Given the description of an element on the screen output the (x, y) to click on. 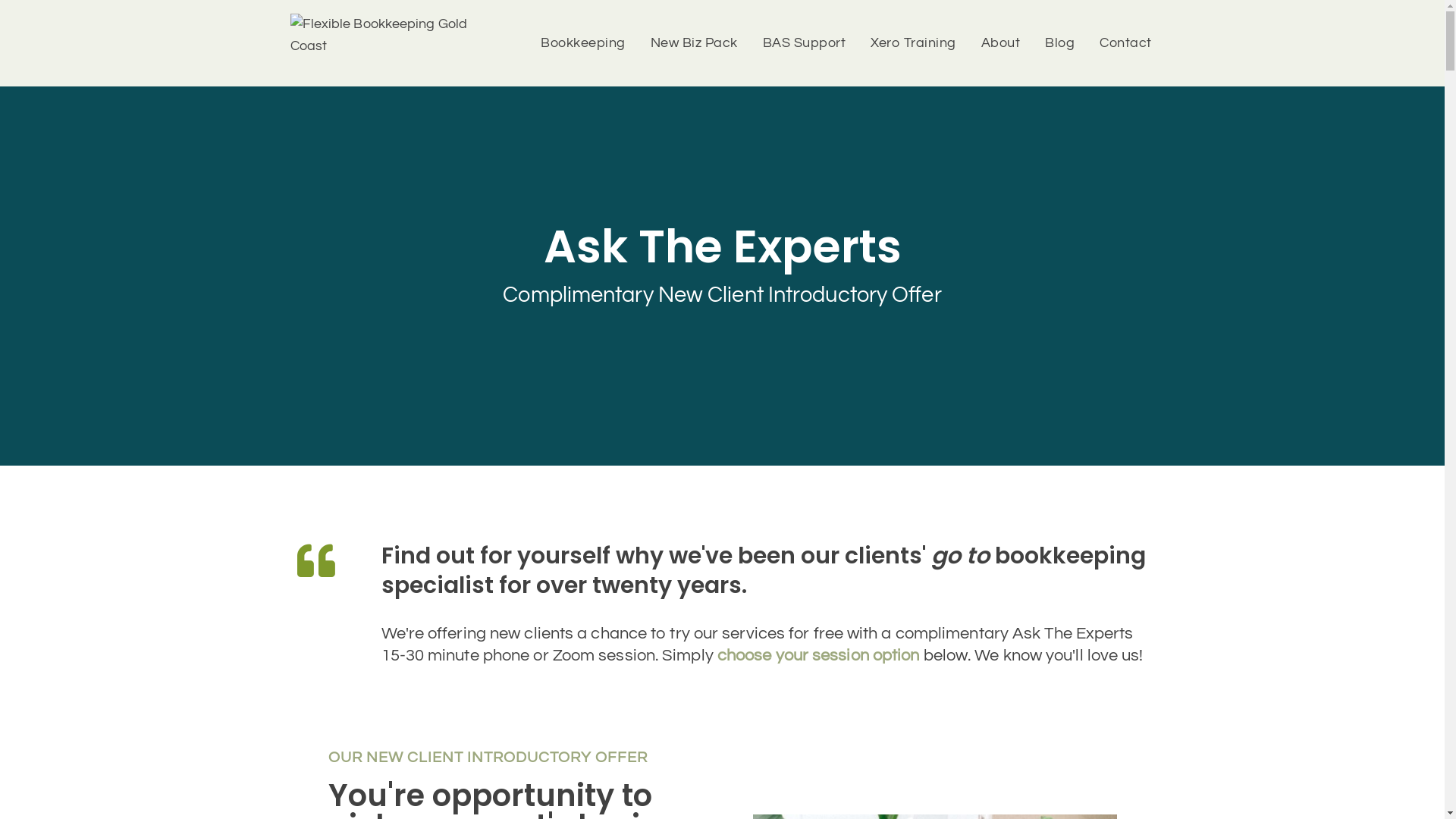
New Biz Pack Element type: text (693, 42)
Contact Element type: text (1125, 42)
BAS Support Element type: text (804, 42)
Blog Element type: text (1059, 42)
Xero Training Element type: text (913, 42)
choose your session option Element type: text (818, 655)
Bookkeeping Element type: text (582, 42)
About Element type: text (1000, 42)
Skip to content Element type: text (11, 31)
